Given the description of an element on the screen output the (x, y) to click on. 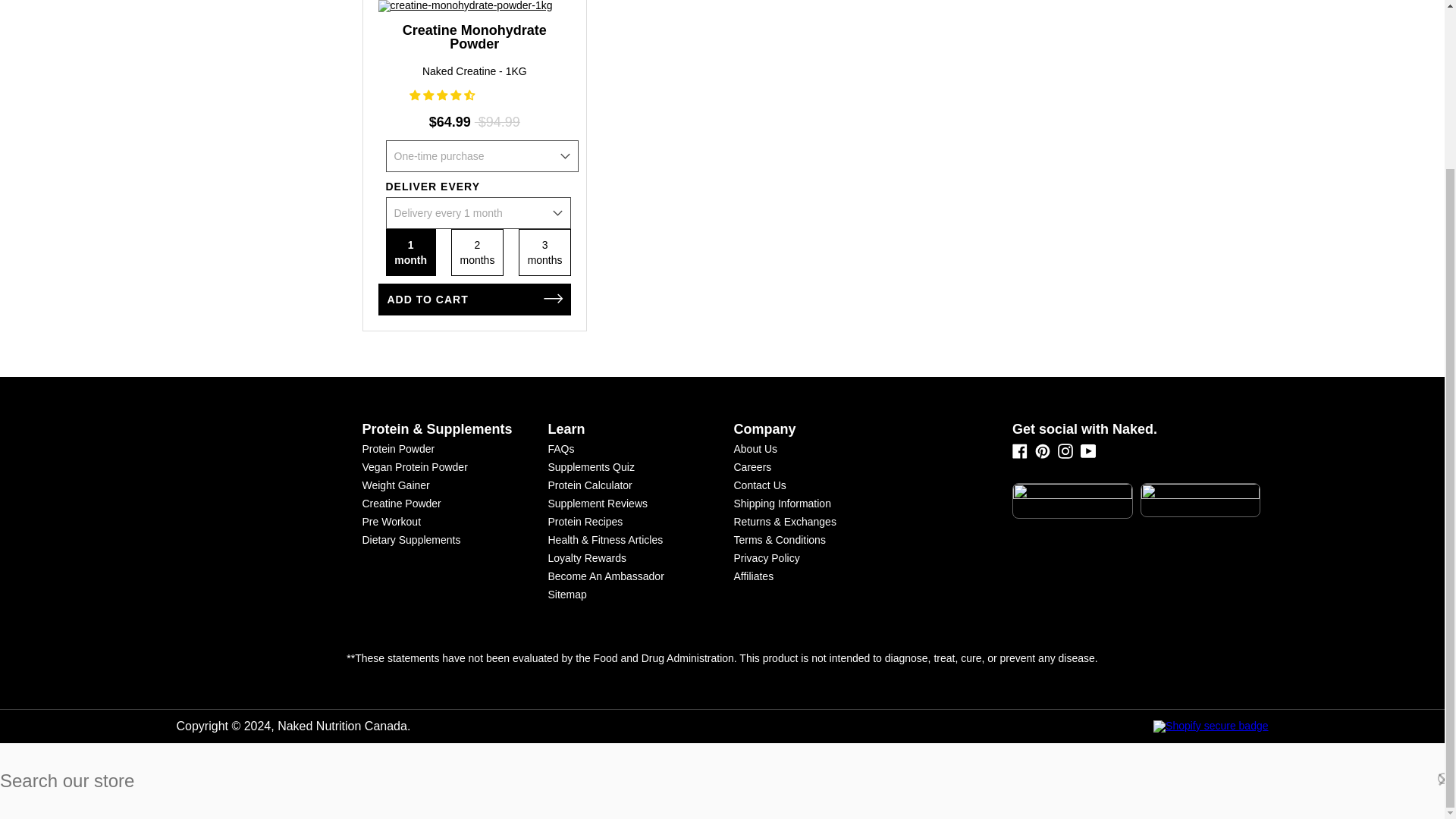
Naked Nutrition Canada on Instagram (1065, 454)
Select Purchase Type (481, 155)
Search (1444, 780)
Clear search (1444, 779)
This online store is secured by Shopify (1000, 726)
Naked Nutrition Canada on YouTube (1088, 454)
Naked Nutrition Canada on Facebook (1019, 450)
Naked Nutrition Canada on Instagram (1065, 450)
Naked Nutrition Canada on Pinterest (1042, 454)
Naked Nutrition Canada on YouTube (1088, 450)
